Given the description of an element on the screen output the (x, y) to click on. 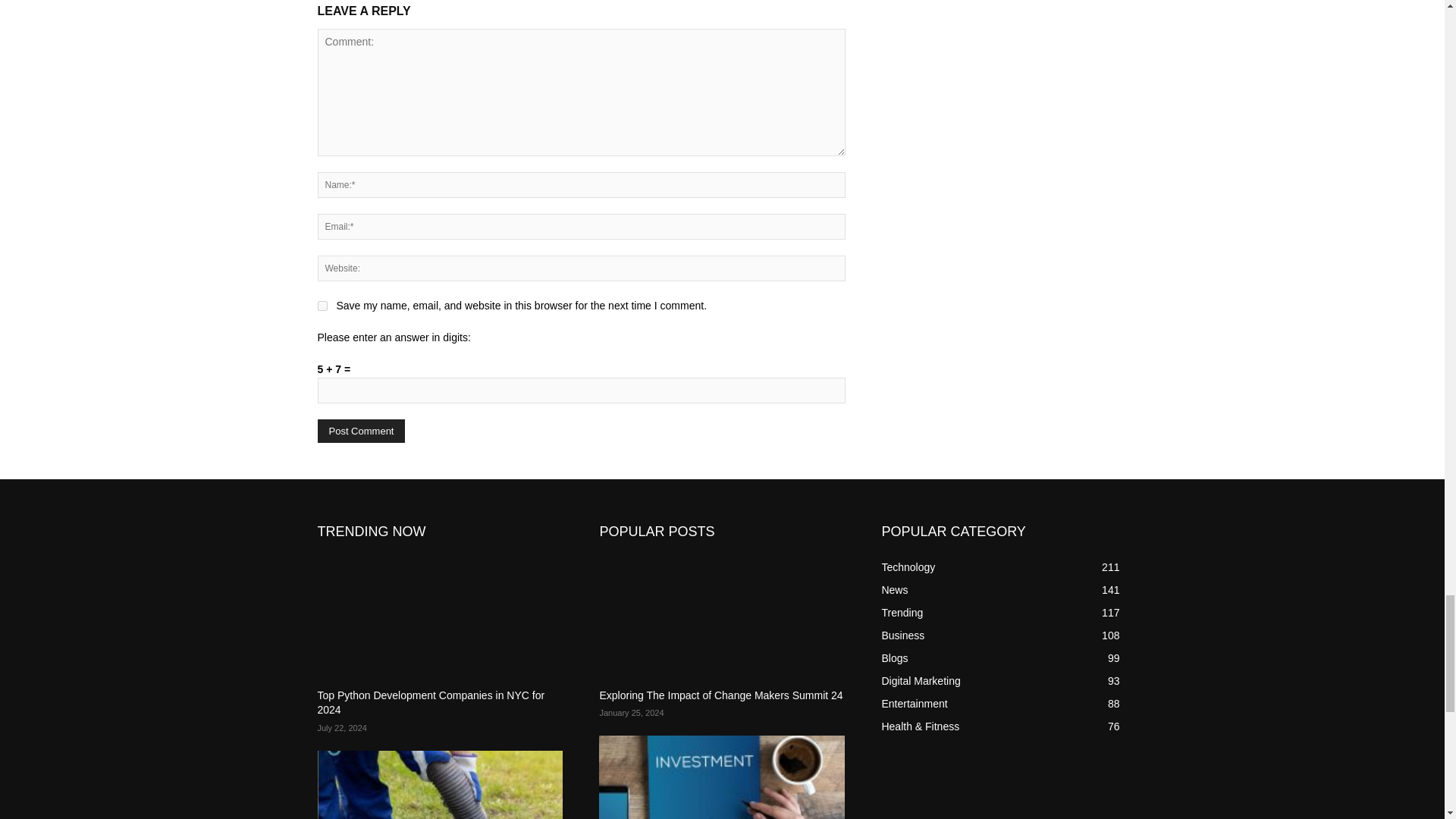
Post Comment (360, 431)
yes (321, 306)
